Given the description of an element on the screen output the (x, y) to click on. 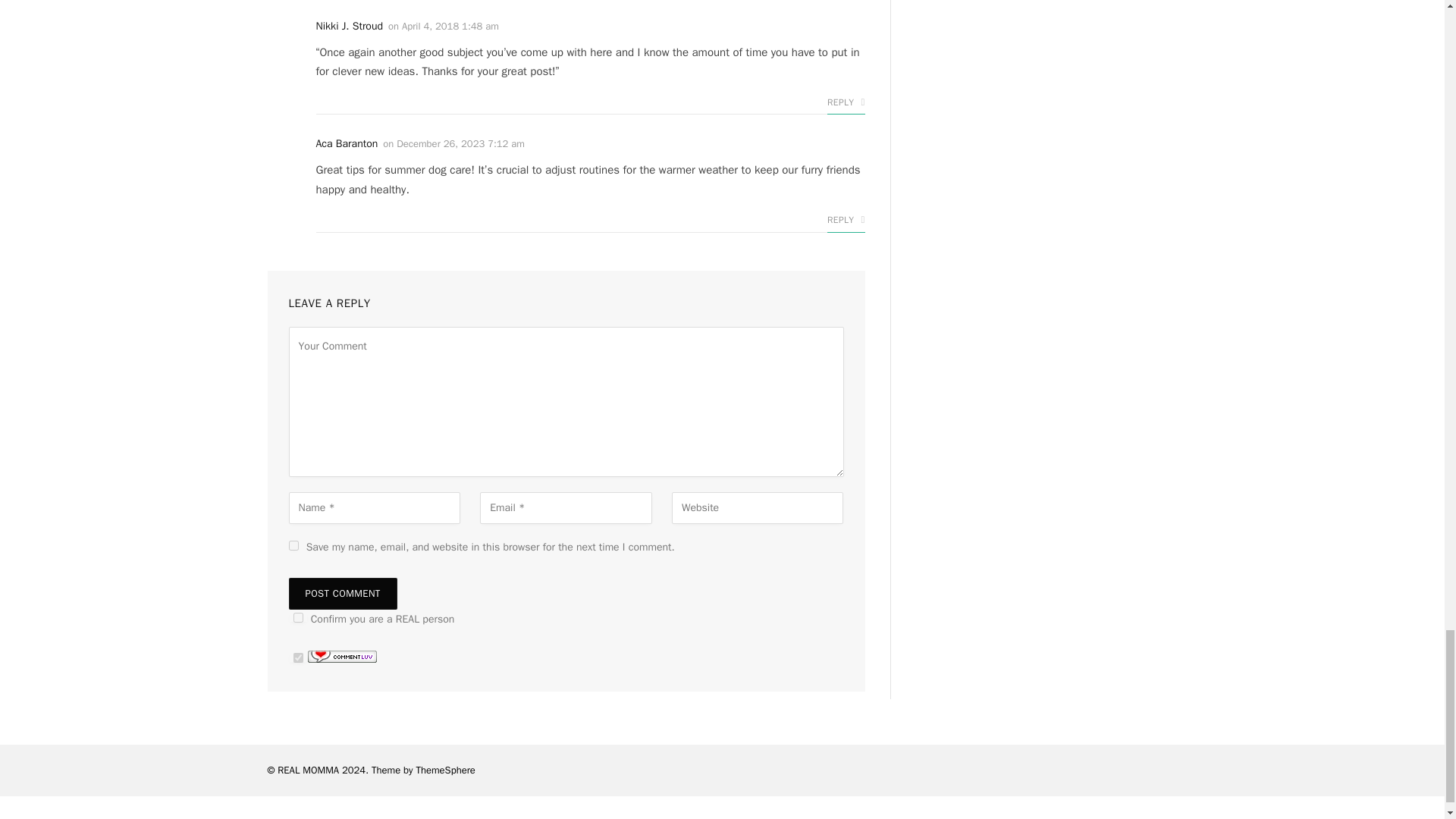
yes (293, 545)
Post Comment (342, 593)
on (297, 617)
on (297, 657)
